Given the description of an element on the screen output the (x, y) to click on. 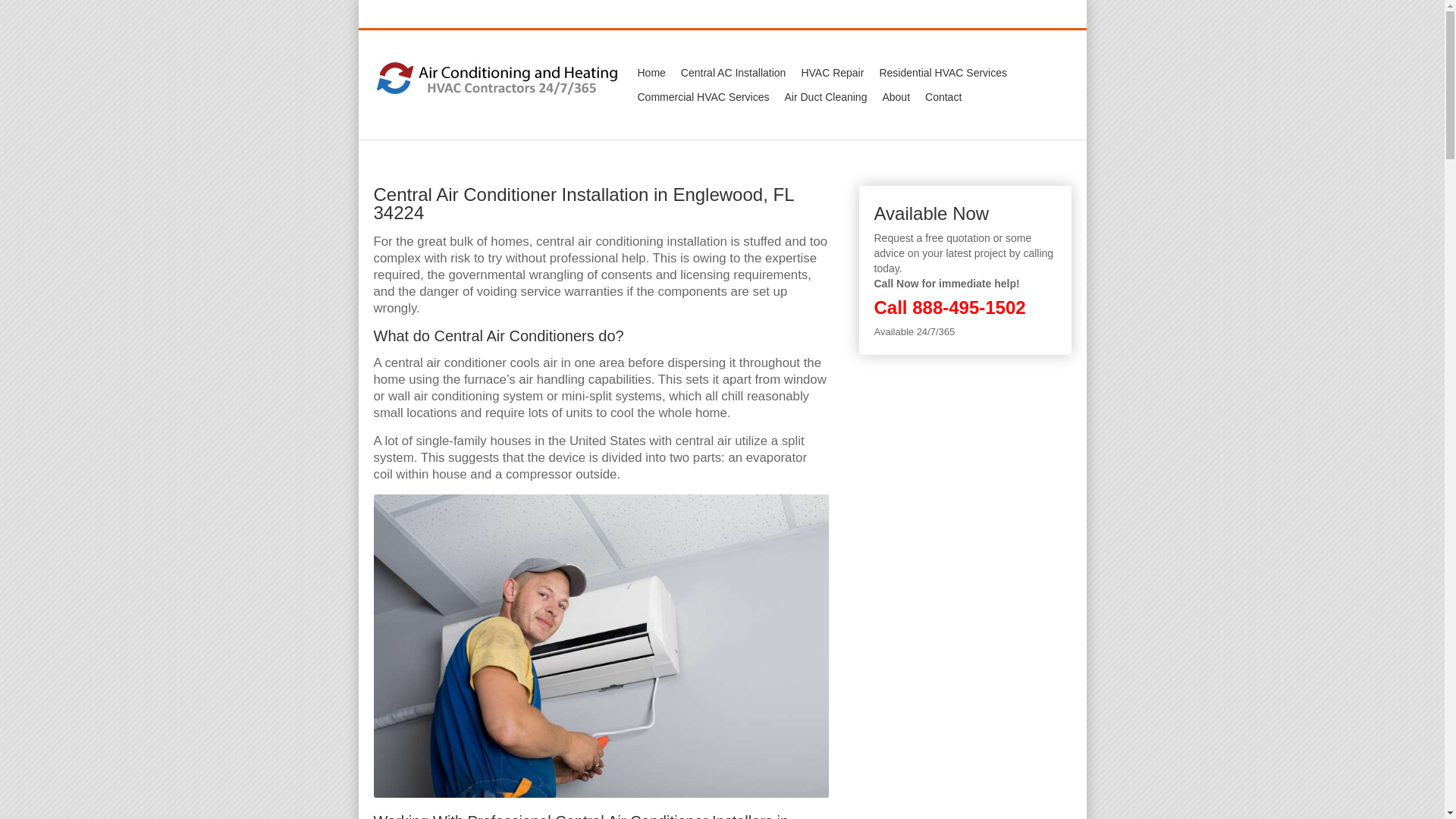
Home (650, 72)
Central AC Installation (733, 72)
HVAC Repair (831, 72)
Air Duct Cleaning (824, 96)
888-495-1502 (968, 307)
888-495-1502 (1034, 15)
Commercial HVAC Services (702, 96)
Residential HVAC Services (942, 72)
Contact (943, 96)
About (895, 96)
